Given the description of an element on the screen output the (x, y) to click on. 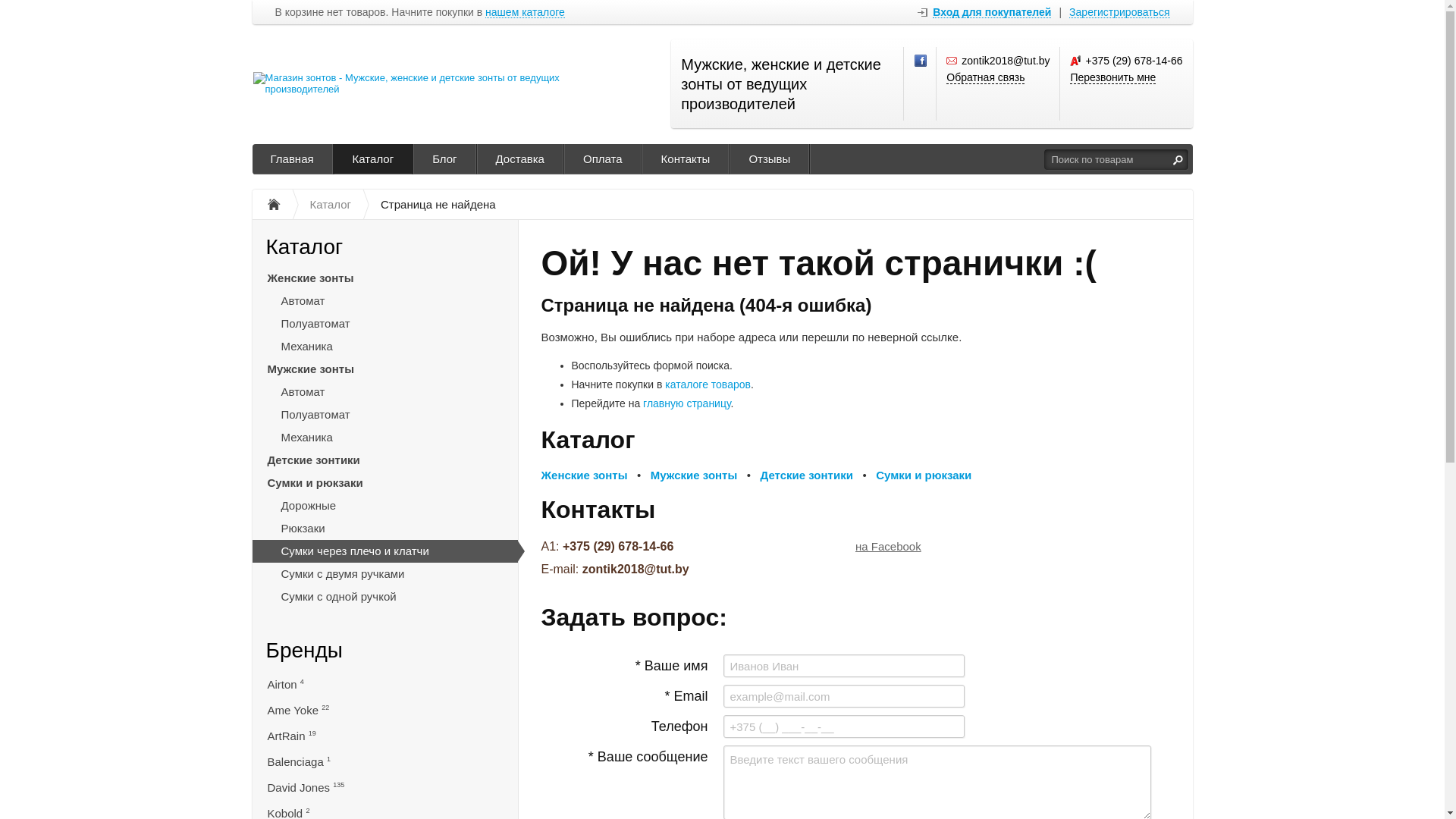
  Element type: text (1177, 159)
David Jones 135 Element type: text (384, 786)
Balenciaga 1 Element type: text (384, 760)
Airton 4 Element type: text (384, 683)
Ame Yoke 22 Element type: text (384, 708)
ArtRain 19 Element type: text (384, 734)
